Given the description of an element on the screen output the (x, y) to click on. 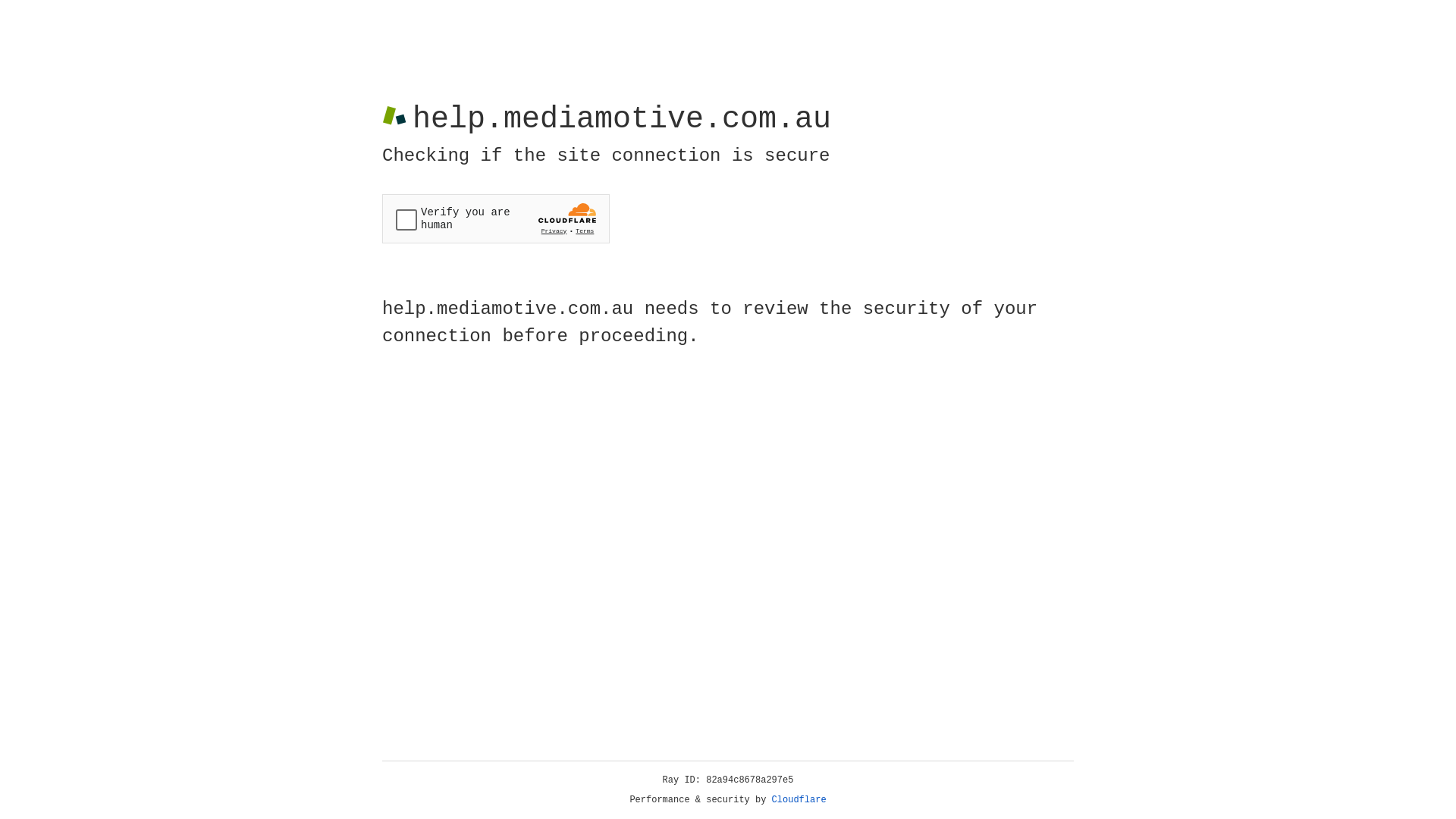
Cloudflare Element type: text (798, 799)
Widget containing a Cloudflare security challenge Element type: hover (495, 218)
